Given the description of an element on the screen output the (x, y) to click on. 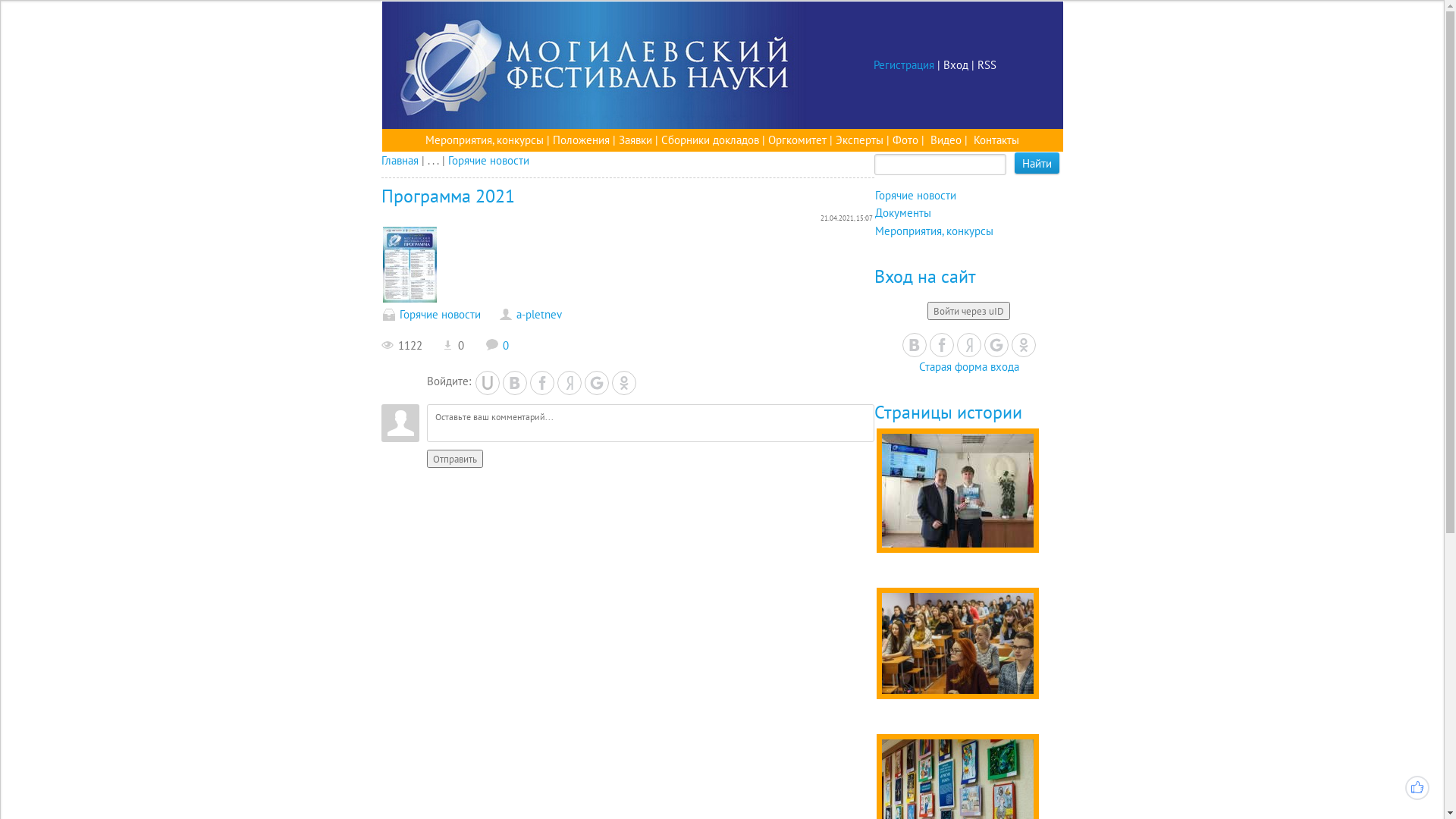
RSS Element type: text (985, 64)
a-pletnev Element type: text (538, 314)
0 Element type: text (496, 345)
